Given the description of an element on the screen output the (x, y) to click on. 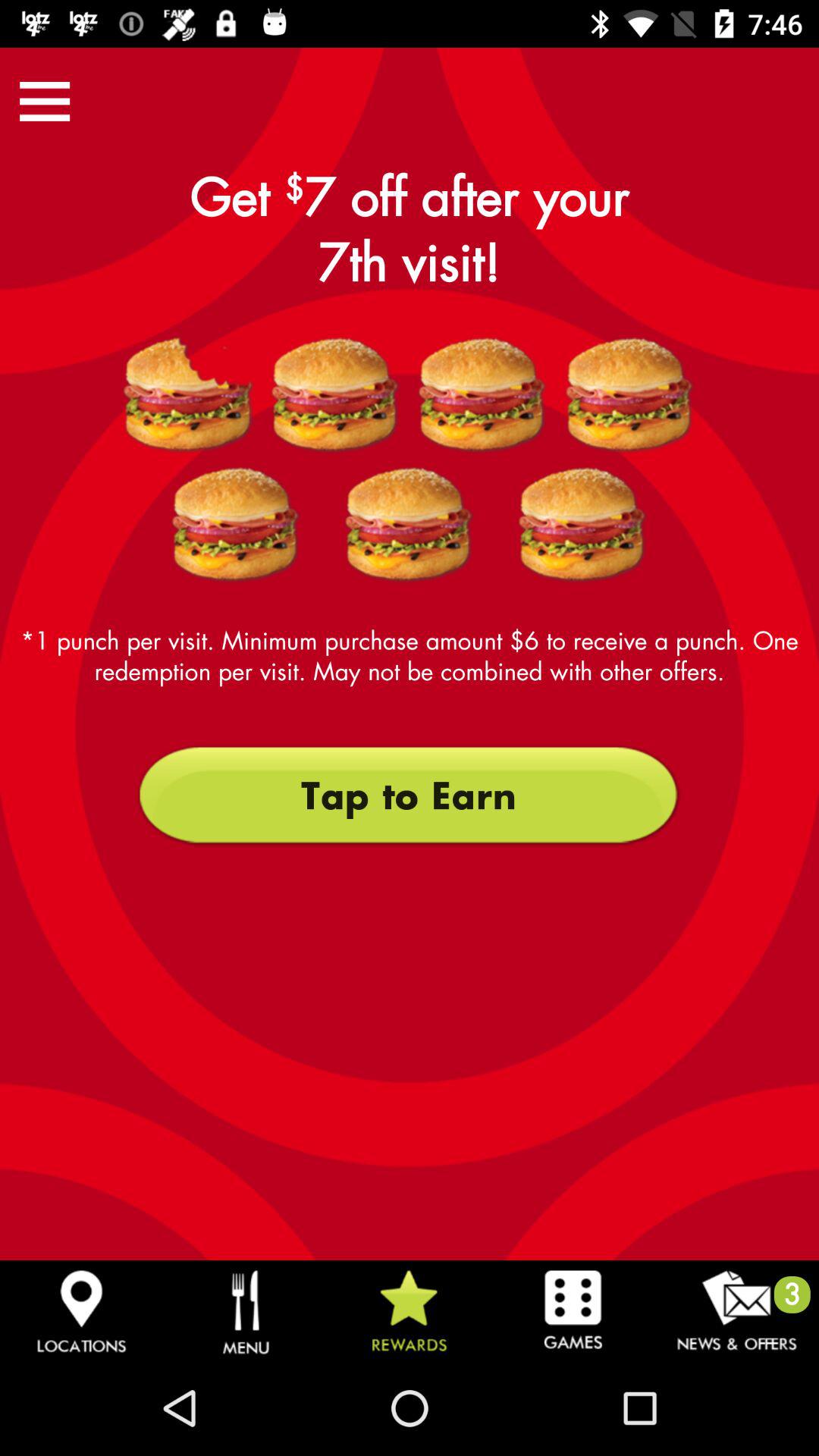
redeem punch (188, 395)
